Given the description of an element on the screen output the (x, y) to click on. 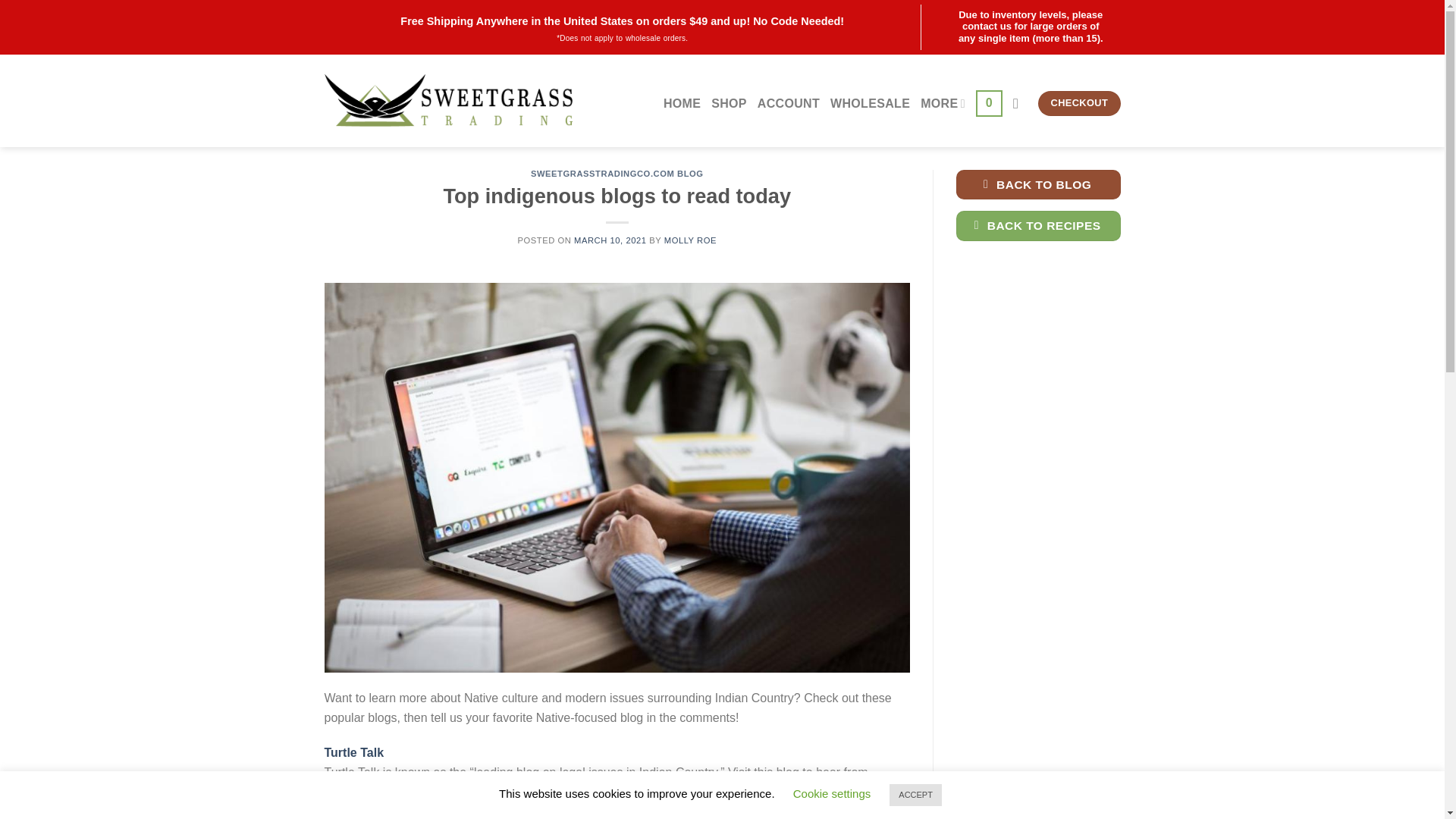
CHECKOUT (1078, 103)
HOME (681, 103)
MARCH 10, 2021 (609, 239)
Turtle Talk (354, 752)
SHOP (728, 103)
ACCOUNT (788, 103)
WHOLESALE (869, 103)
SWEETGRASSTRADINGCO.COM BLOG (617, 173)
MORE (942, 103)
Sweetgrass Trading Co - Sweetgrass Trading Co (448, 100)
MOLLY ROE (689, 239)
